Given the description of an element on the screen output the (x, y) to click on. 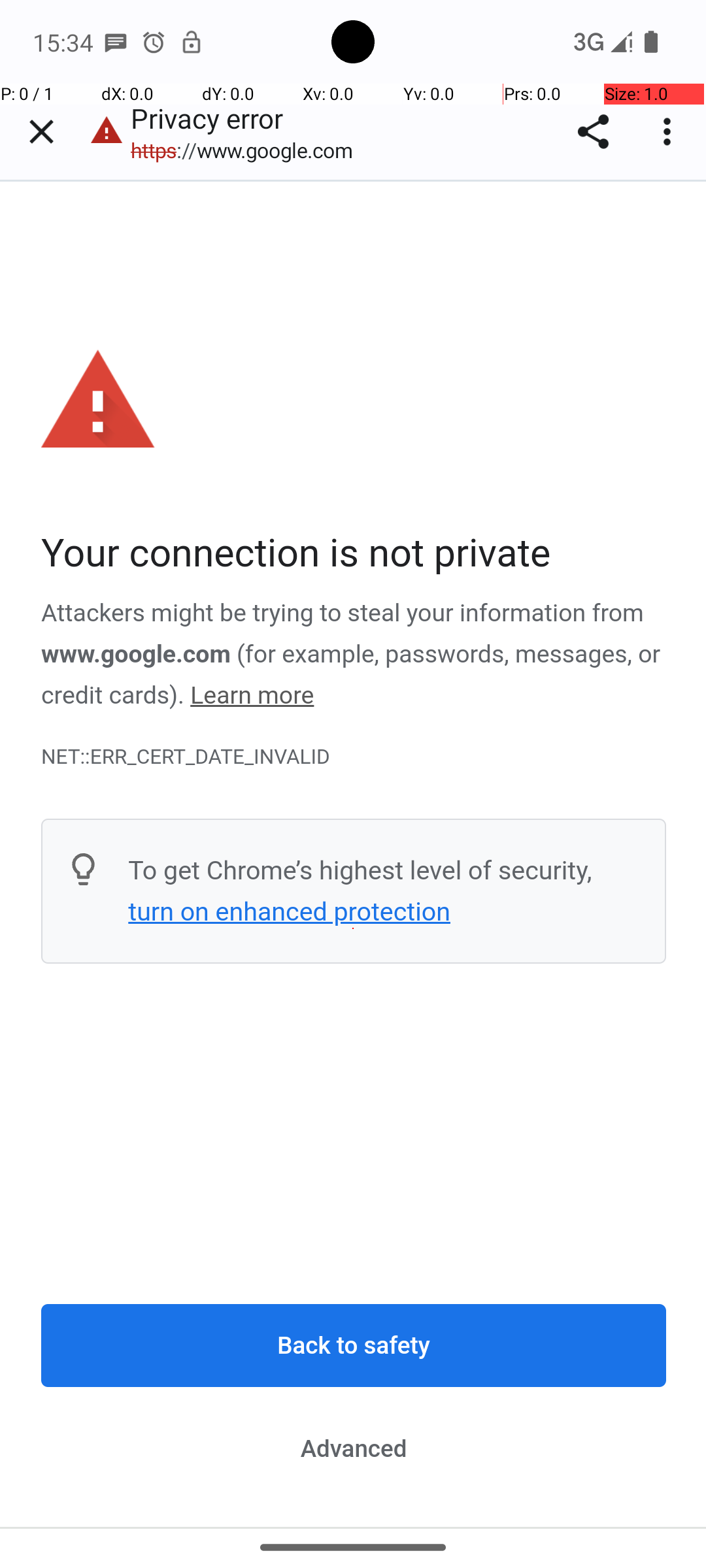
https://www.google.com Element type: android.widget.TextView (248, 149)
www.google.com Element type: android.widget.TextView (136, 653)
